Given the description of an element on the screen output the (x, y) to click on. 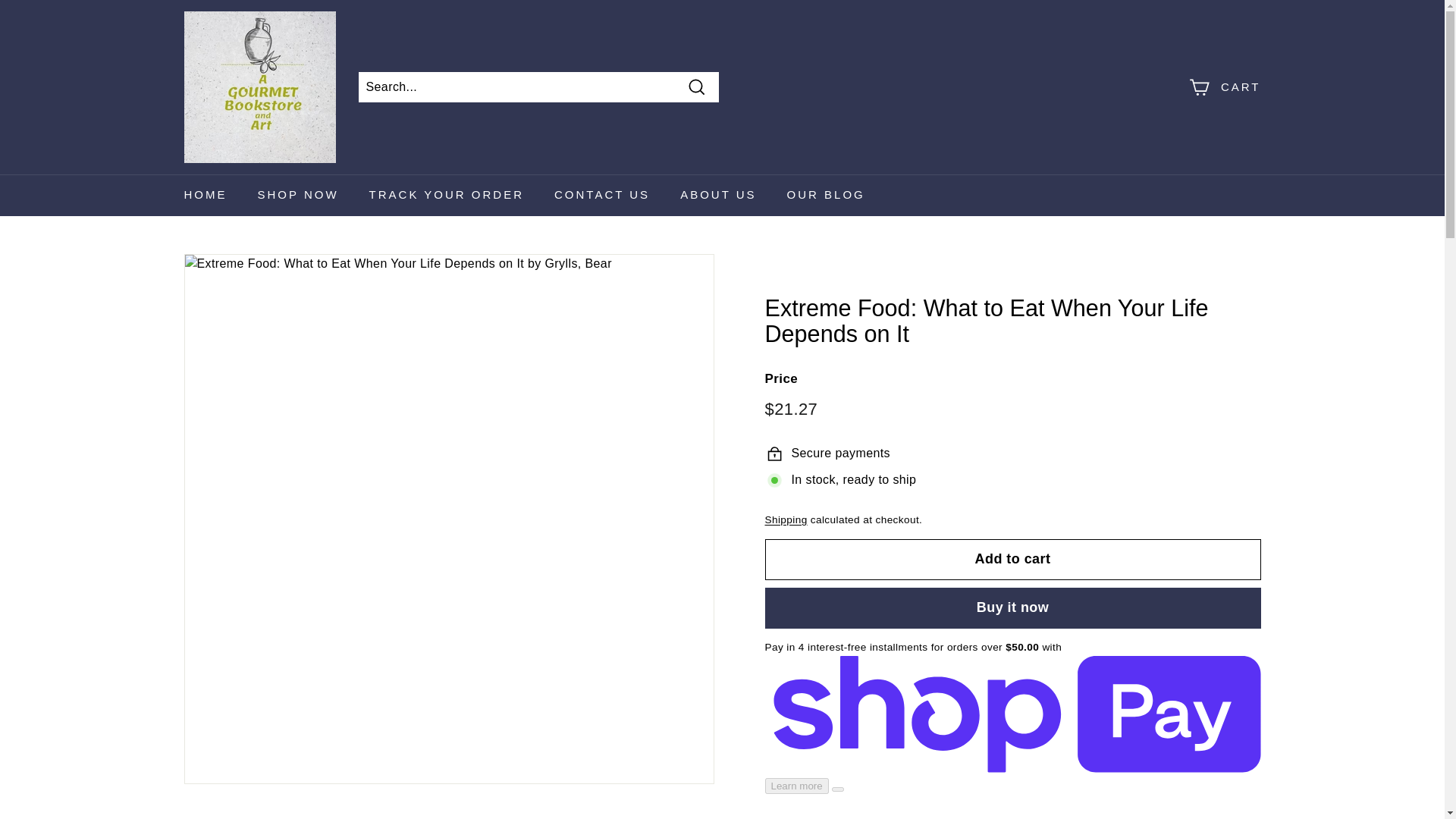
SHOP NOW (298, 195)
HOME (204, 195)
